Given the description of an element on the screen output the (x, y) to click on. 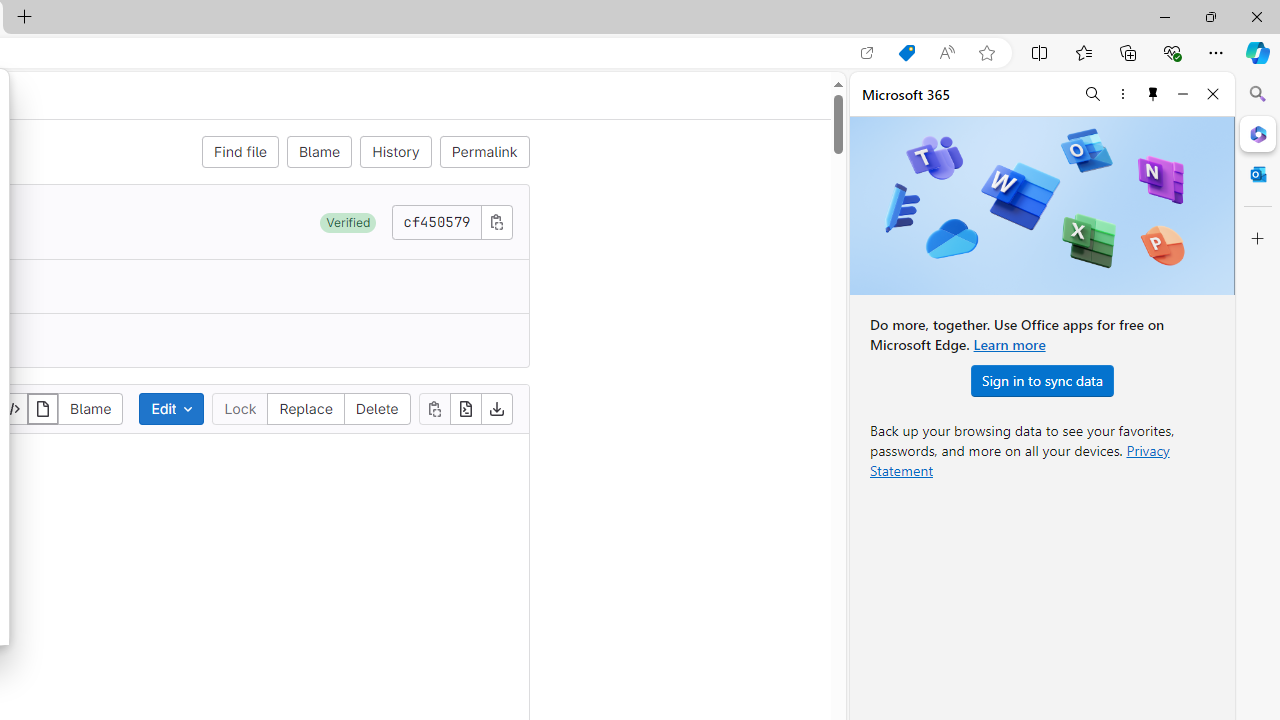
Replace (306, 408)
History (395, 151)
Learn more about Microsoft Office. (1008, 344)
Find file (240, 151)
Sign in to sync data (1042, 380)
Download (496, 408)
Blame (319, 151)
Verified (348, 221)
Edit (171, 408)
Shopping in Microsoft Edge (906, 53)
